Given the description of an element on the screen output the (x, y) to click on. 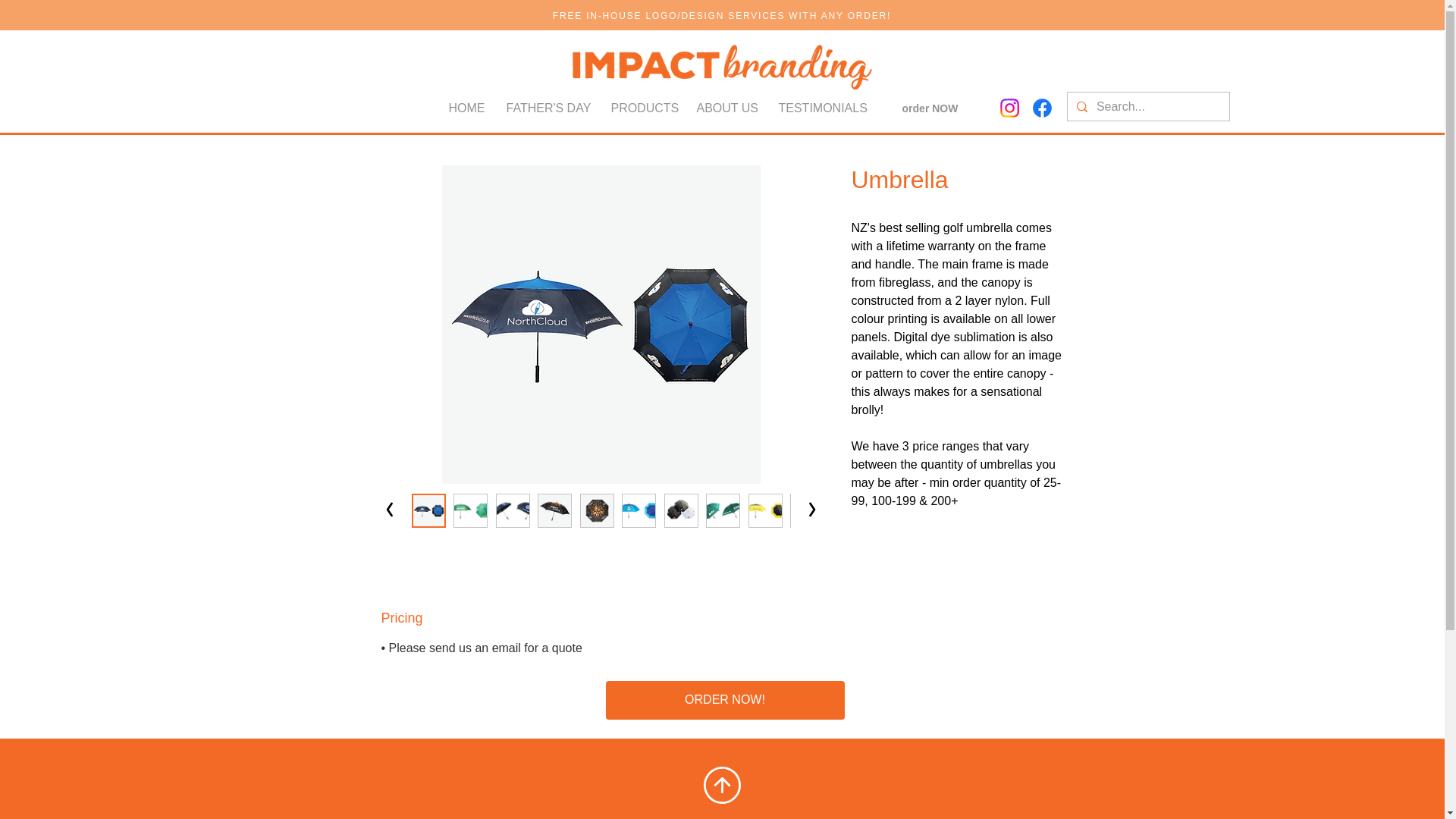
order NOW (929, 107)
ORDER NOW! (724, 699)
PRODUCTS (641, 108)
TOP (724, 816)
ABOUT US (726, 108)
HOME (465, 108)
TESTIMONIALS (819, 108)
FATHER'S DAY (546, 108)
